Given the description of an element on the screen output the (x, y) to click on. 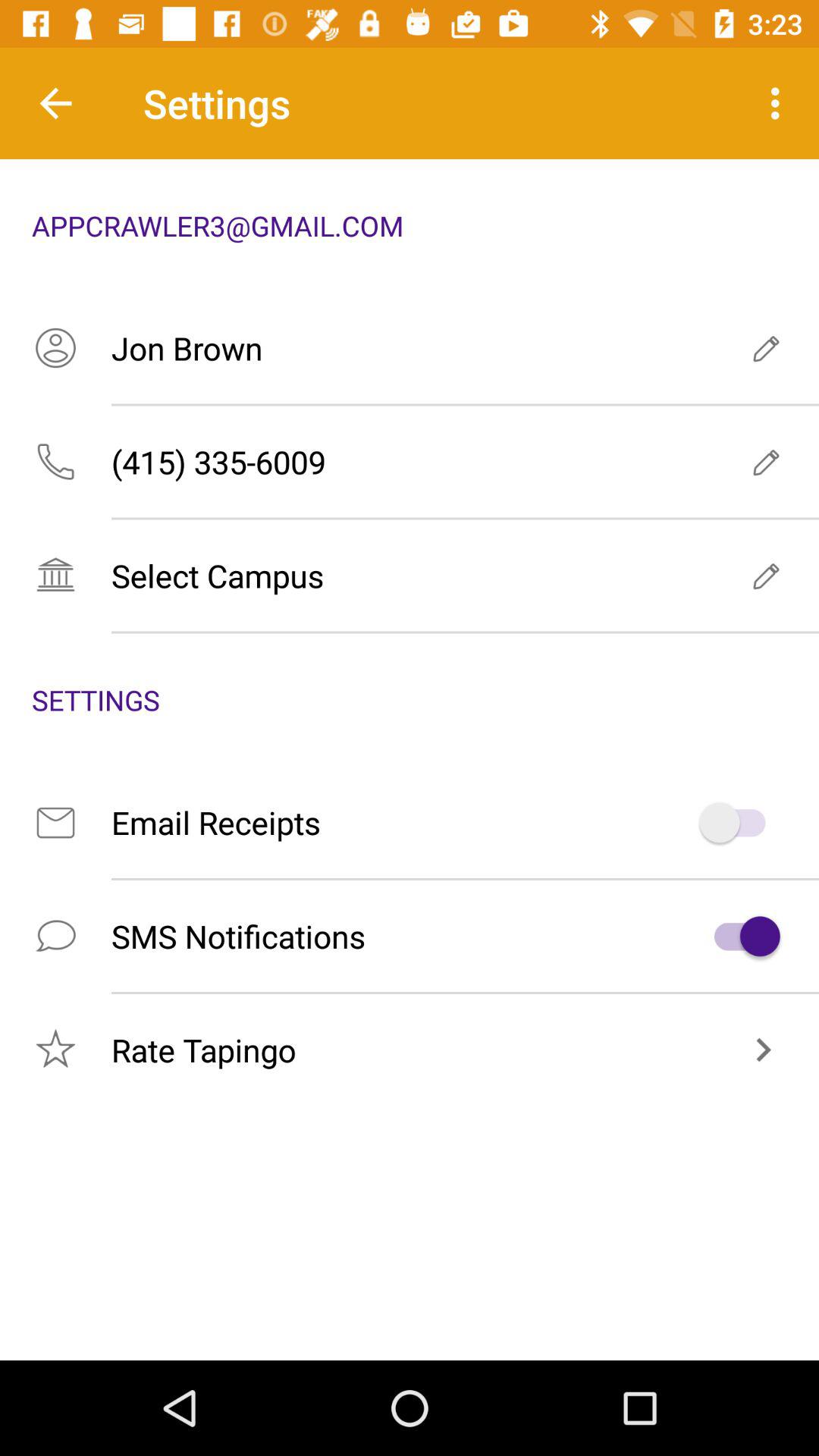
turn off the icon above jon brown  icon (779, 103)
